Given the description of an element on the screen output the (x, y) to click on. 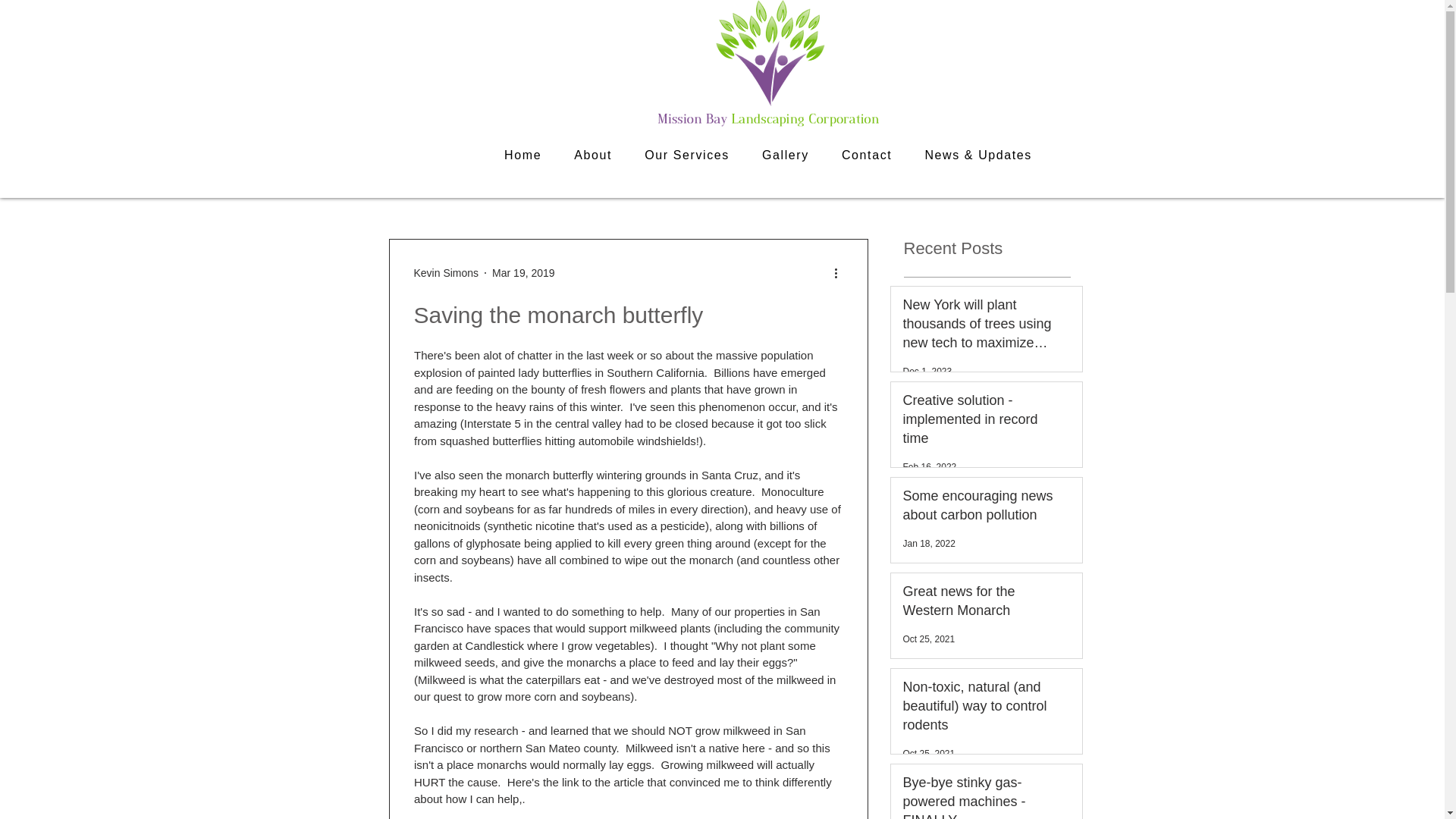
Feb 16, 2022 (929, 466)
Our Services (686, 155)
Gallery (785, 155)
Contact (866, 155)
Some encouraging news about carbon pollution (980, 508)
Kevin Simons (446, 273)
Home (523, 155)
Dec 1, 2023 (927, 371)
Jan 18, 2022 (928, 543)
Oct 25, 2021 (928, 753)
Bye-bye stinky gas-powered machines - FINALLY (980, 796)
Creative solution - implemented in record time (980, 423)
Great news for the Western Monarch (980, 604)
Oct 25, 2021 (928, 638)
